Given the description of an element on the screen output the (x, y) to click on. 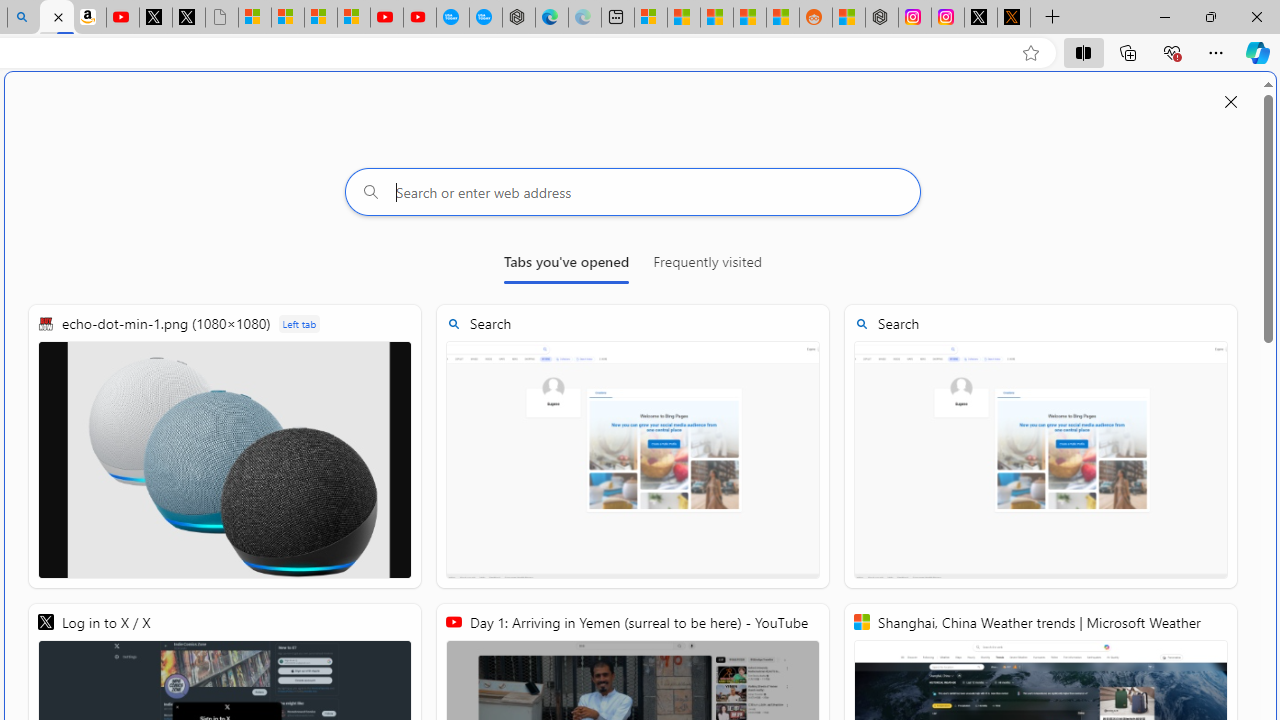
Day 1: Arriving in Yemen (surreal to be here) - YouTube (123, 17)
YouTube Kids - An App Created for Kids to Explore Content (420, 17)
X (188, 17)
Untitled (222, 17)
Shanghai, China weather forecast | Microsoft Weather (684, 17)
Tabs you've opened (566, 265)
Search or enter web address (633, 191)
New split screen (56, 17)
